Given the description of an element on the screen output the (x, y) to click on. 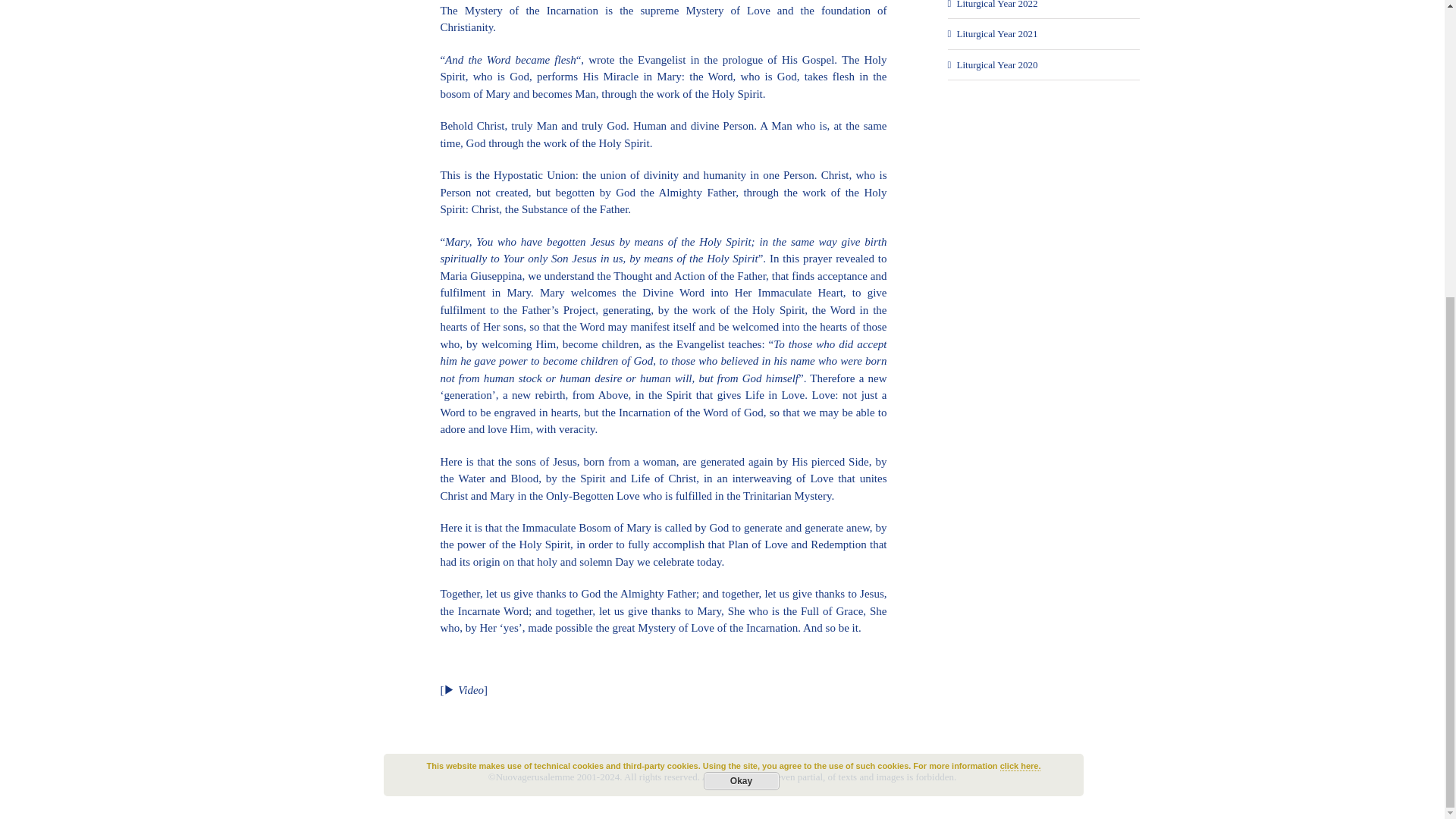
Liturgical Year 2022 (997, 4)
Liturgical Year 2021 (997, 33)
click here. (1020, 307)
Okay (740, 321)
Liturgical Year 2020 (997, 64)
